Given the description of an element on the screen output the (x, y) to click on. 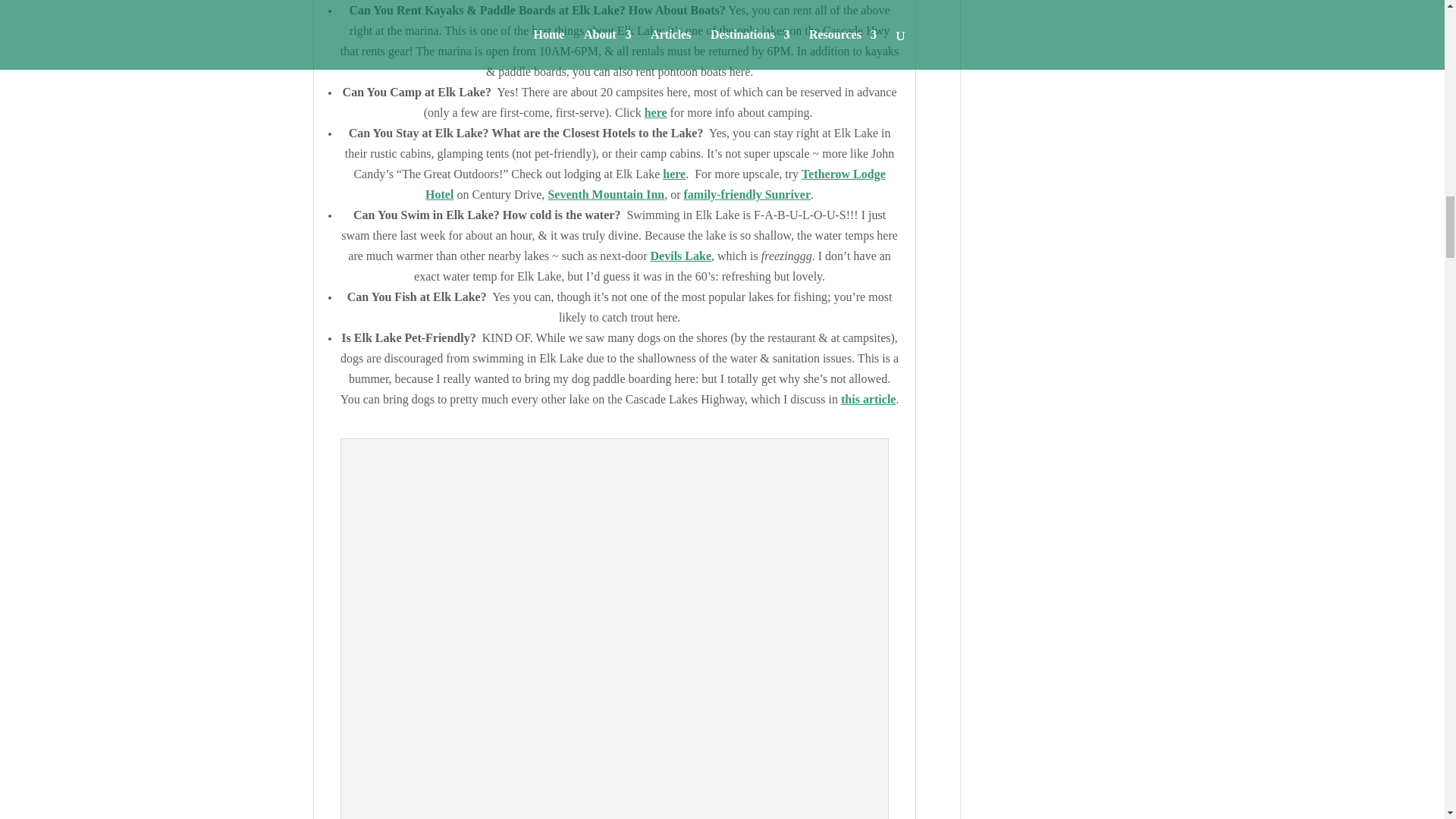
here (673, 173)
Tetherow Lodge Hotel (655, 183)
here (655, 112)
Devils Lake (680, 255)
Seventh Mountain Inn (605, 194)
family-friendly Sunriver (747, 194)
this article (868, 399)
